Given the description of an element on the screen output the (x, y) to click on. 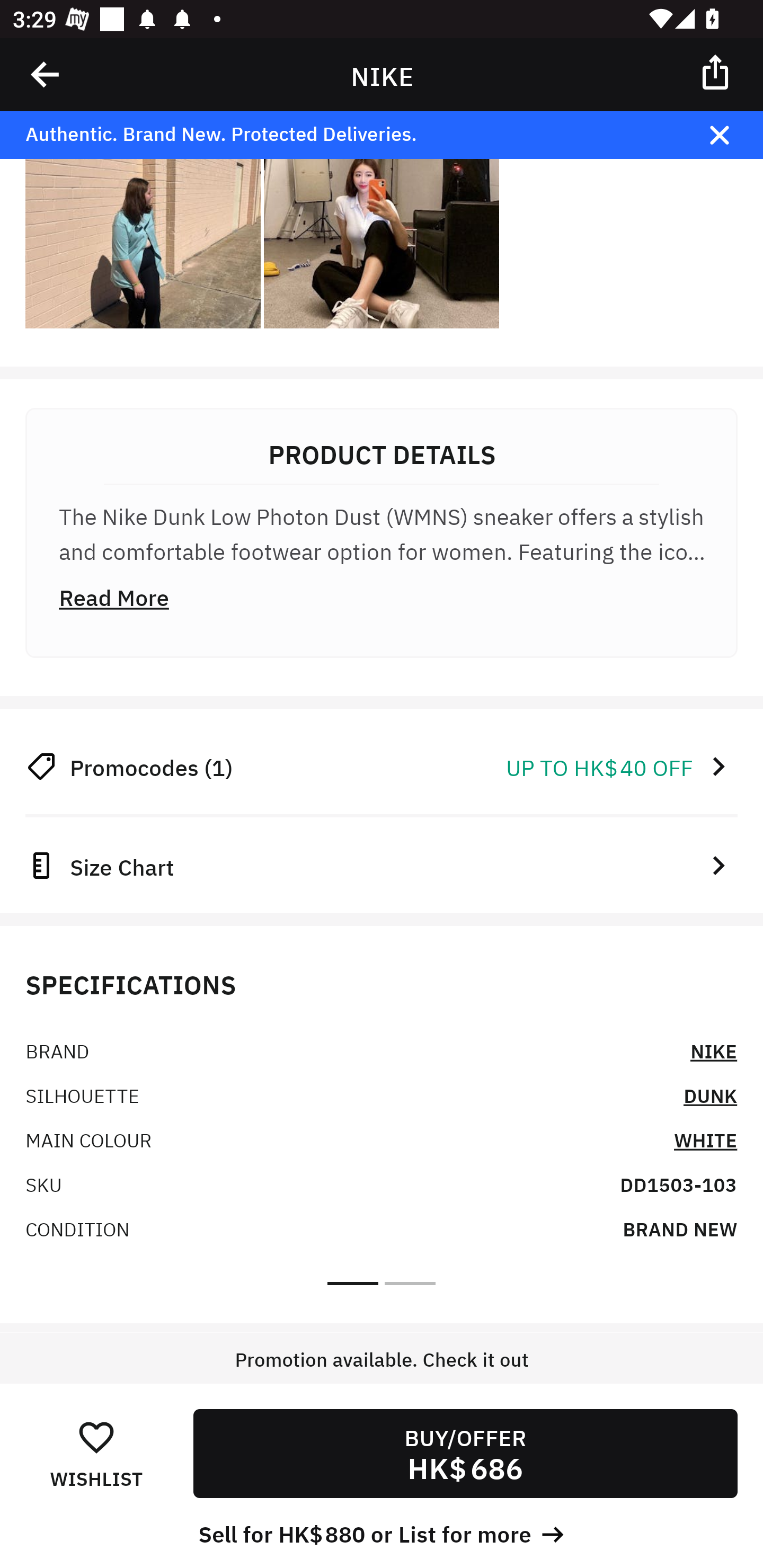
 (46, 74)
 (716, 70)
Authentic. Brand New. Protected Deliveries. (350, 134)
 (732, 134)
Promocodes (1) UP TO HK$ 40 OFF  (381, 765)
Size Chart  (381, 865)
NIKE (713, 1049)
DUNK (710, 1094)
WHITE (705, 1138)
DD1503-103 (678, 1183)
BRAND NEW (679, 1227)
Promotion available. Check it out (381, 1377)
BUY/OFFER HK$ 686 (465, 1453)
󰋕 (95, 1435)
Sell for HK$ 880 or List for more (381, 1532)
